Given the description of an element on the screen output the (x, y) to click on. 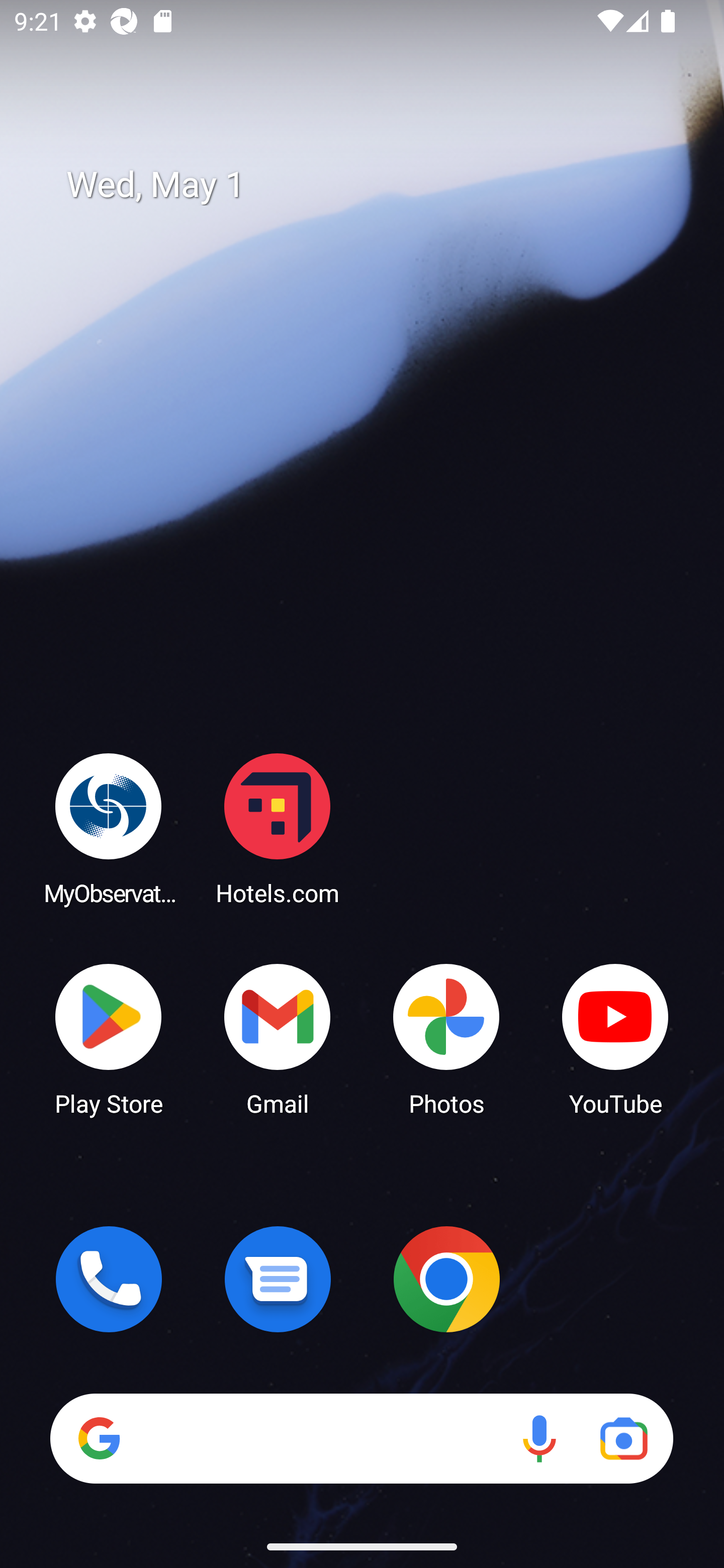
Wed, May 1 (375, 184)
MyObservatory (108, 828)
Hotels.com (277, 828)
Play Store (108, 1038)
Gmail (277, 1038)
Photos (445, 1038)
YouTube (615, 1038)
Phone (108, 1279)
Messages (277, 1279)
Chrome (446, 1279)
Search Voice search Google Lens (361, 1438)
Voice search (539, 1438)
Google Lens (623, 1438)
